Given the description of an element on the screen output the (x, y) to click on. 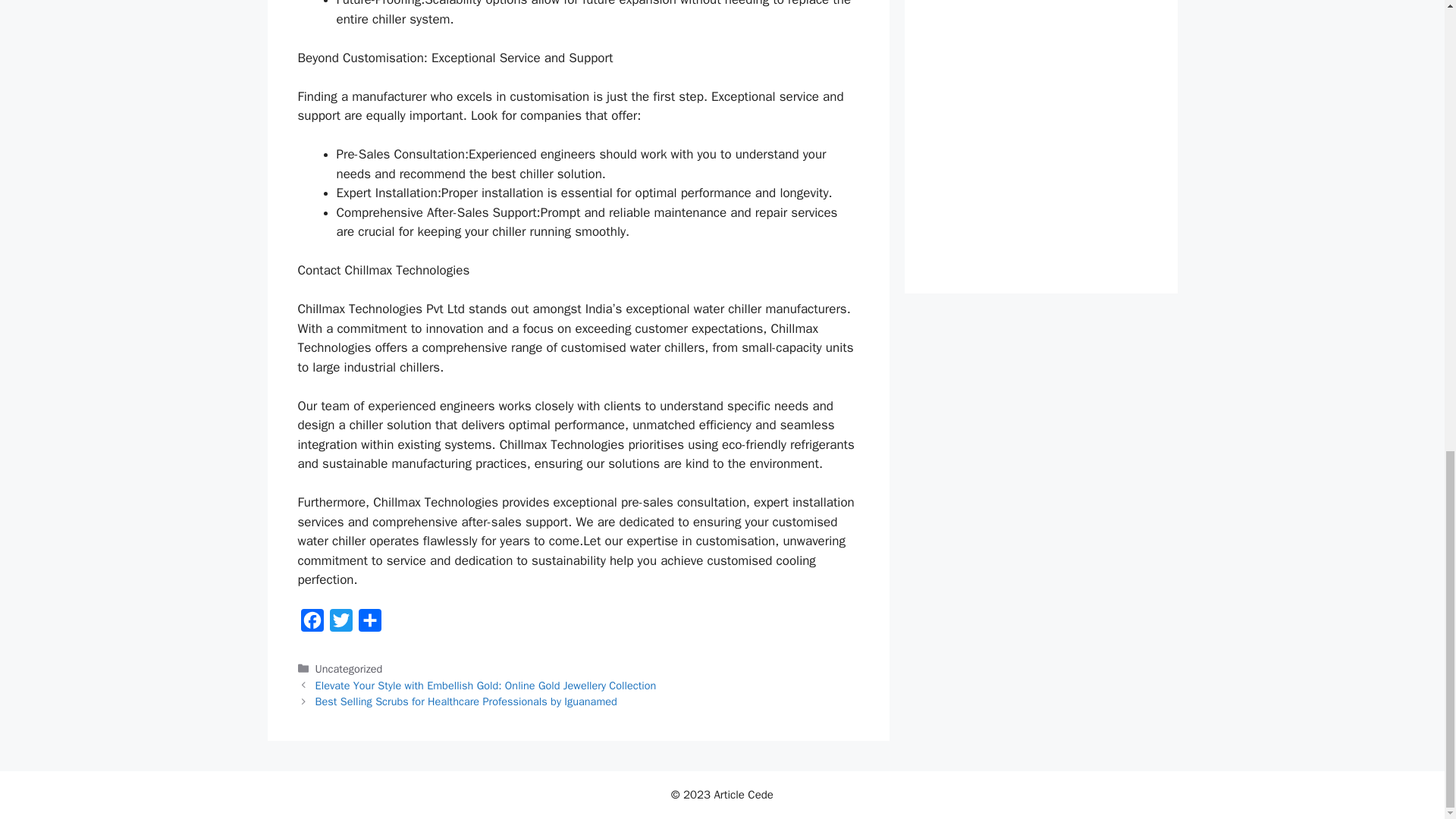
Twitter (340, 624)
Facebook (311, 624)
Twitter (340, 624)
Facebook (311, 624)
Scroll back to top (1406, 530)
